Given the description of an element on the screen output the (x, y) to click on. 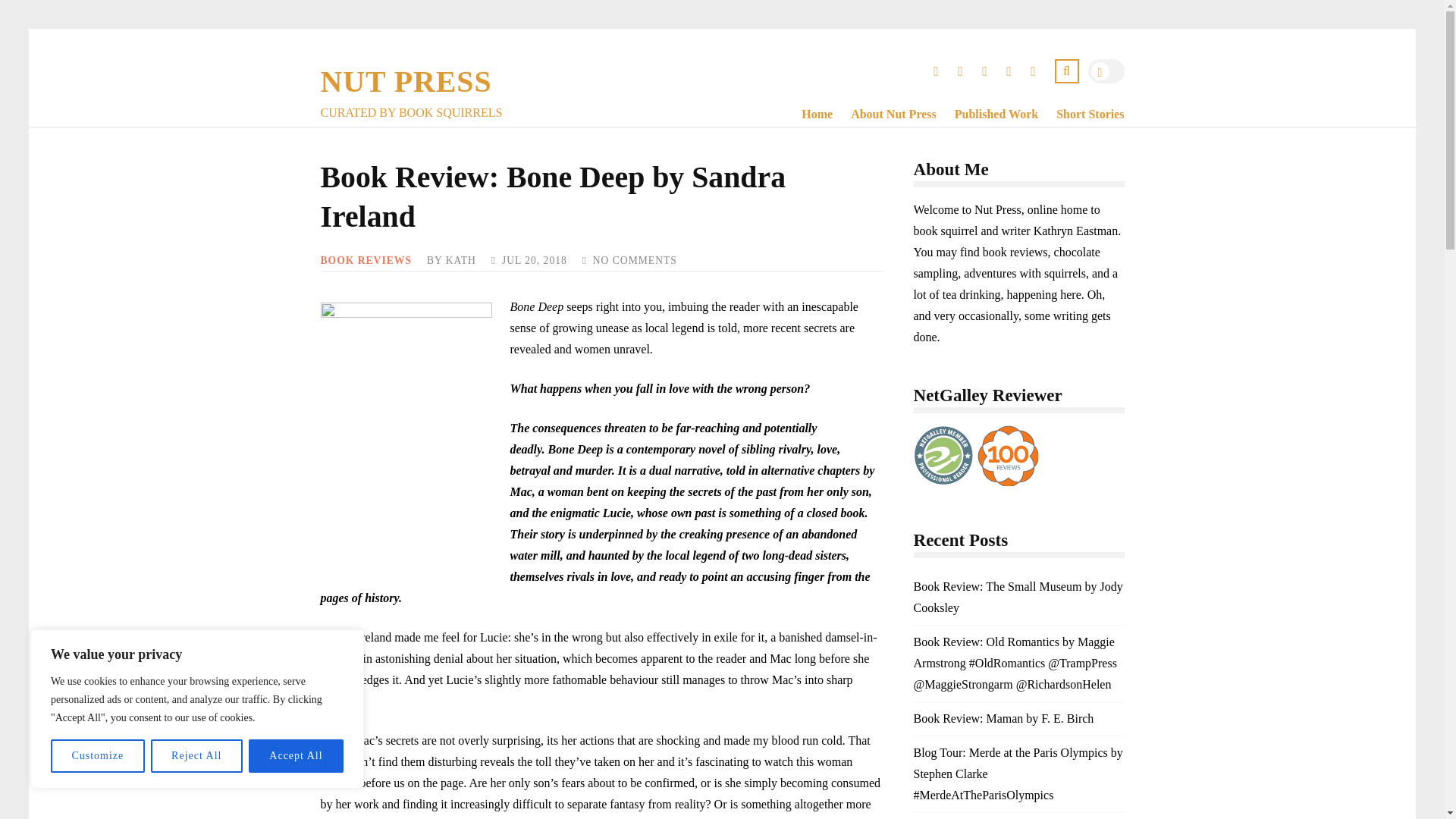
NUT PRESS (406, 81)
Home (807, 114)
KATH (460, 260)
Reject All (197, 756)
Accept All (295, 756)
100 Book Reviews (1006, 455)
NO COMMENTS (634, 260)
About Nut Press (884, 114)
Professional Reader (943, 455)
BOOK REVIEWS (365, 260)
Posts by kath (460, 260)
Short Stories (1081, 114)
Customize (97, 756)
Nut Press (406, 81)
Writing (1081, 114)
